Given the description of an element on the screen output the (x, y) to click on. 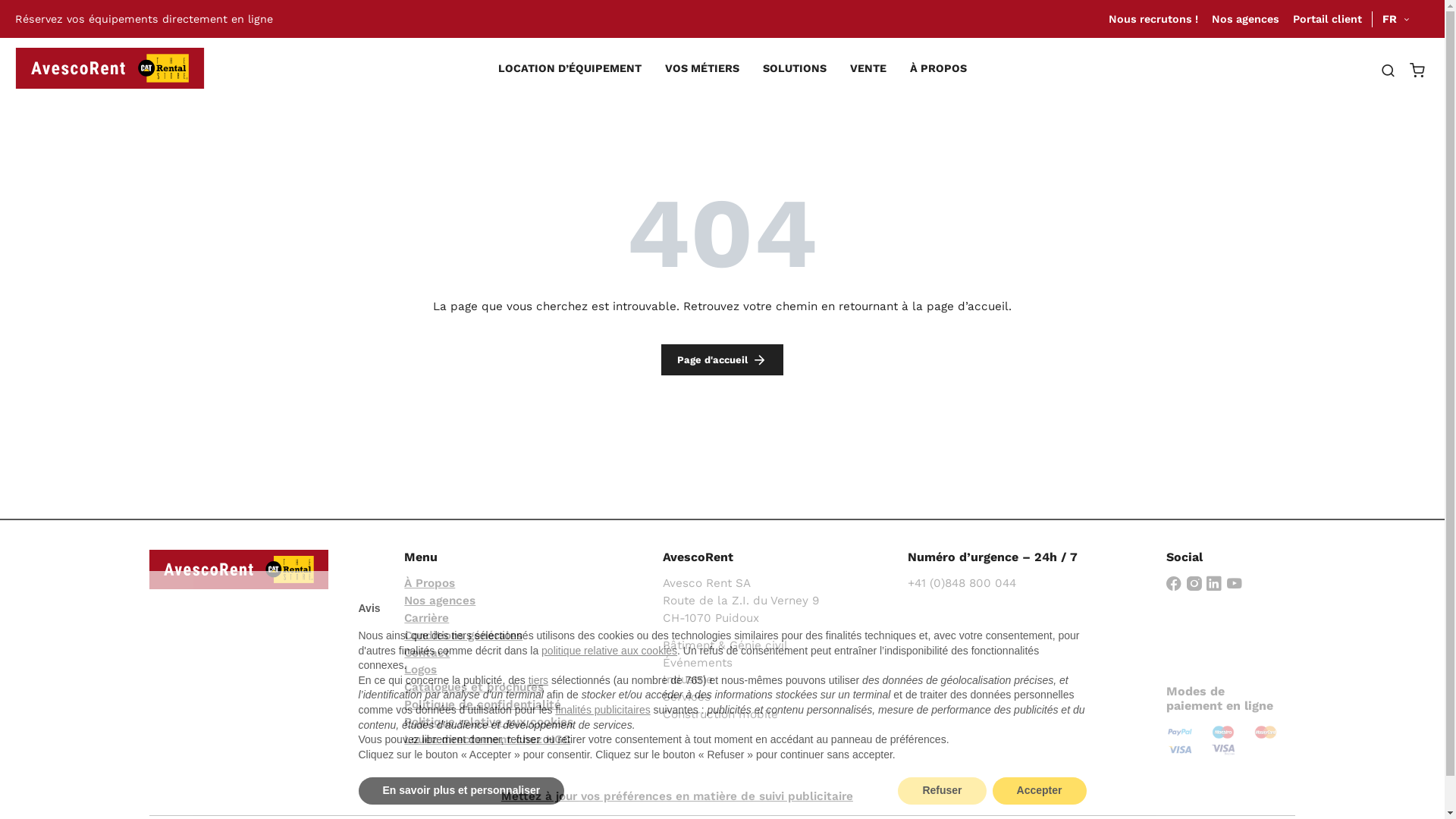
Logos Element type: text (420, 669)
Nos agences Element type: text (1245, 18)
Nous recrutons ! Element type: text (1153, 18)
Catalogues et brochures Element type: text (473, 686)
Portail client Element type: text (1326, 18)
Louez directement chez HGC Element type: text (487, 739)
Contact Element type: text (426, 652)
SOLUTIONS Element type: text (794, 68)
Nos agences Element type: text (439, 600)
VENTE Element type: text (868, 68)
Page d'accueil Element type: text (722, 359)
Politique relative aux cookies Element type: text (488, 721)
